Given the description of an element on the screen output the (x, y) to click on. 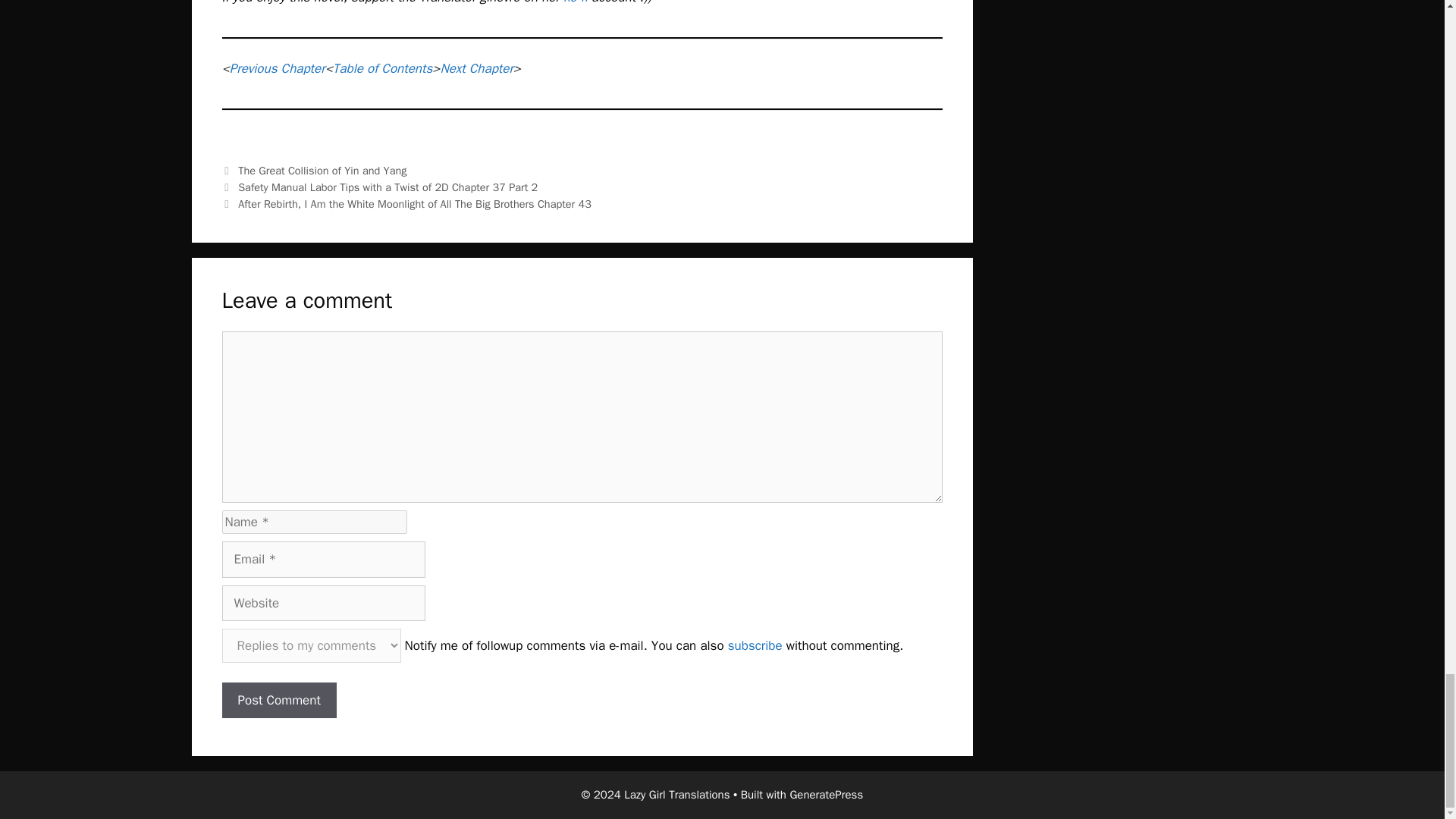
Post Comment (278, 700)
Table of Contents (382, 68)
Next Chapter (475, 68)
Previous (379, 187)
Next (406, 203)
Previous Chapter (277, 68)
ko-fi (575, 2)
GeneratePress (826, 794)
